Given the description of an element on the screen output the (x, y) to click on. 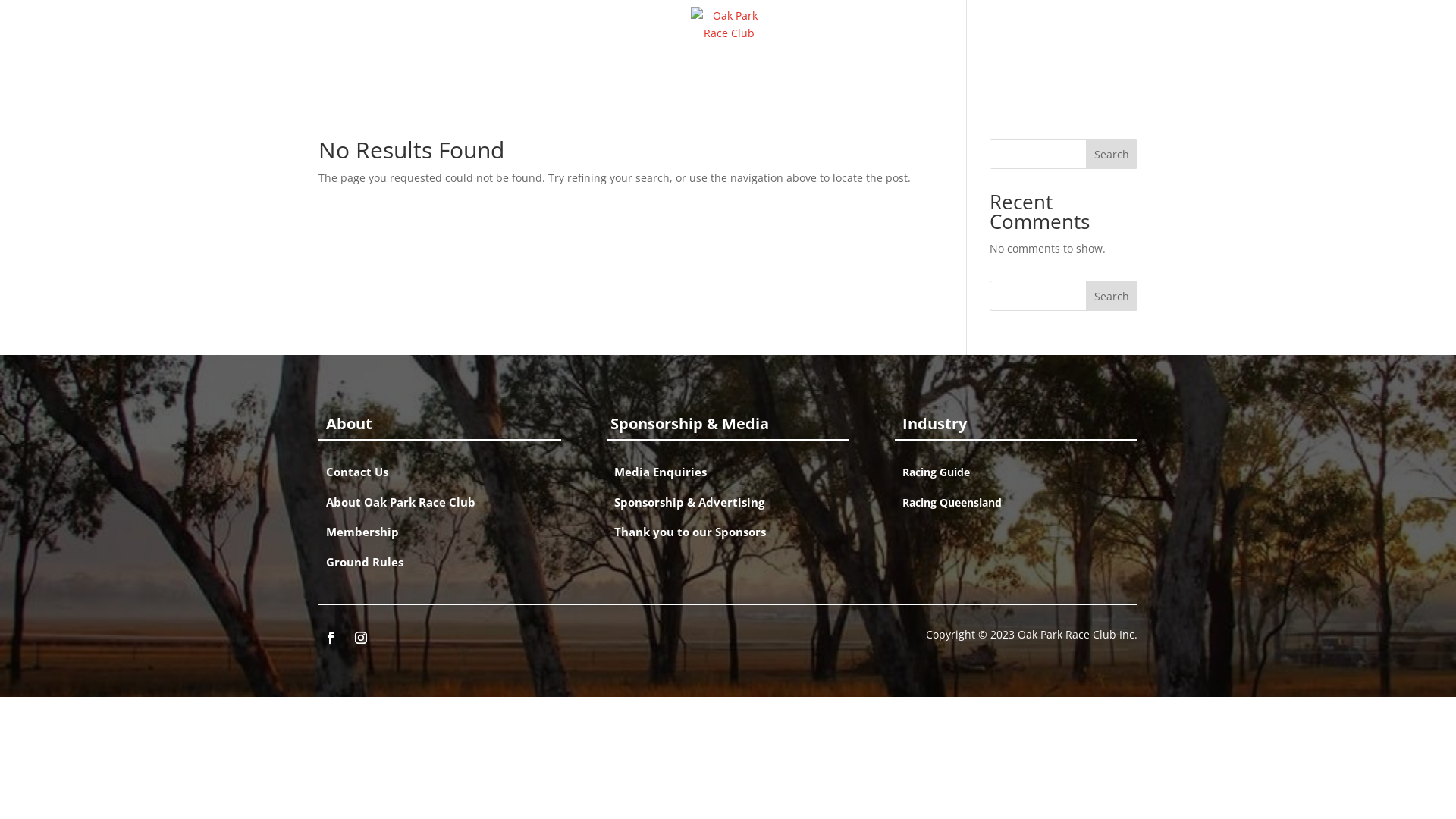
MEMBERSHIP Element type: text (806, 83)
Search Element type: text (1111, 295)
ABOUT Element type: text (561, 83)
Search Element type: text (1111, 153)
Follow on Instagram Element type: hover (360, 637)
FASHIONS Element type: text (626, 83)
CONTACT Element type: text (886, 83)
RACING GUIDE Element type: text (712, 83)
Follow on Facebook Element type: hover (330, 637)
